Given the description of an element on the screen output the (x, y) to click on. 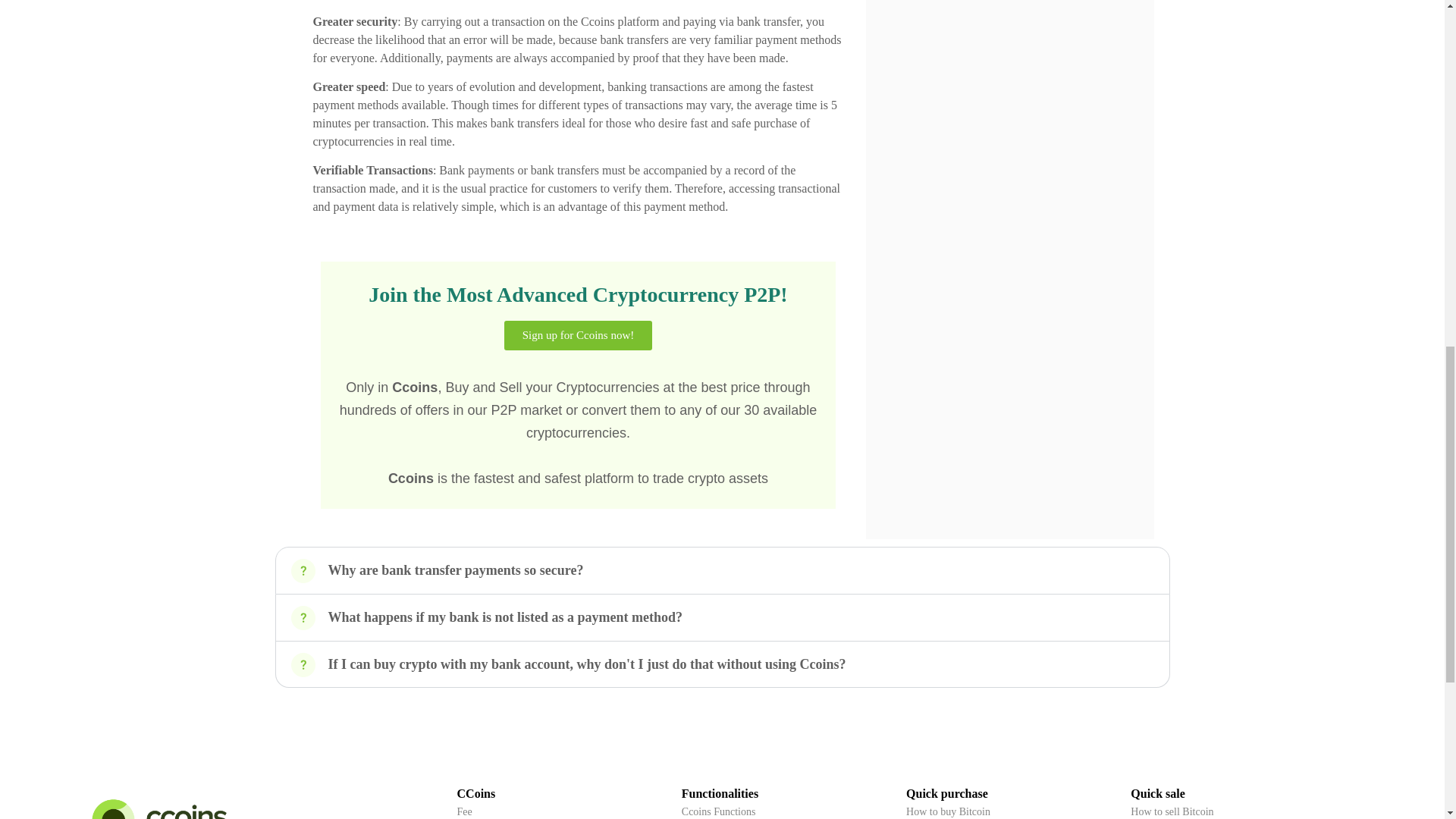
Sign up for Ccoins now! (577, 335)
Ccoins Functions (718, 811)
What happens if my bank is not listed as a payment method? (504, 617)
How to buy Bitcoin (947, 811)
Fee (464, 811)
Why are bank transfer payments so secure? (455, 570)
